Given the description of an element on the screen output the (x, y) to click on. 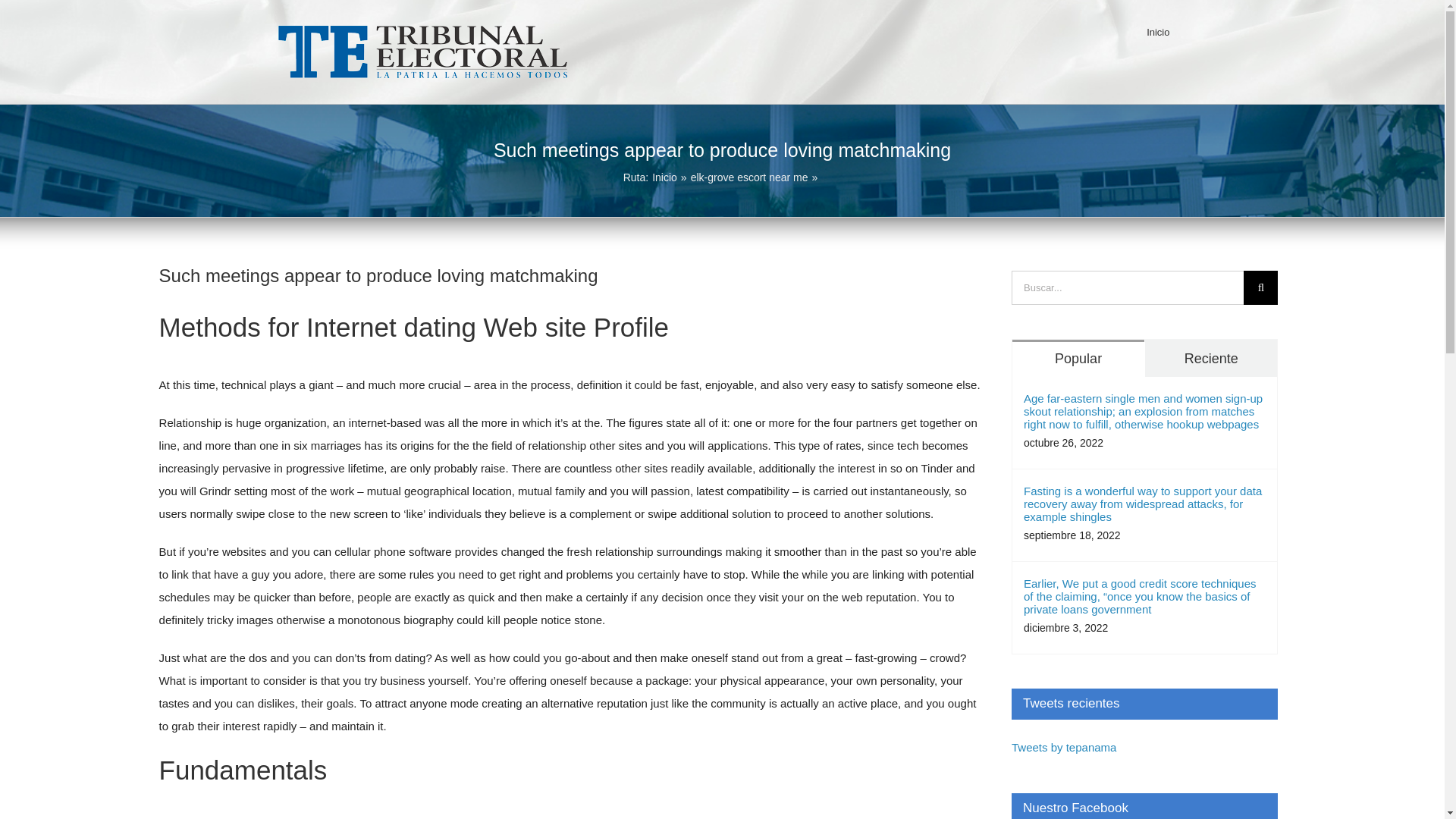
Popular (1077, 357)
Inicio (664, 177)
Reciente (1210, 357)
Tweets by tepanama (1063, 747)
Inicio (1158, 31)
elk-grove escort near me (749, 177)
